Given the description of an element on the screen output the (x, y) to click on. 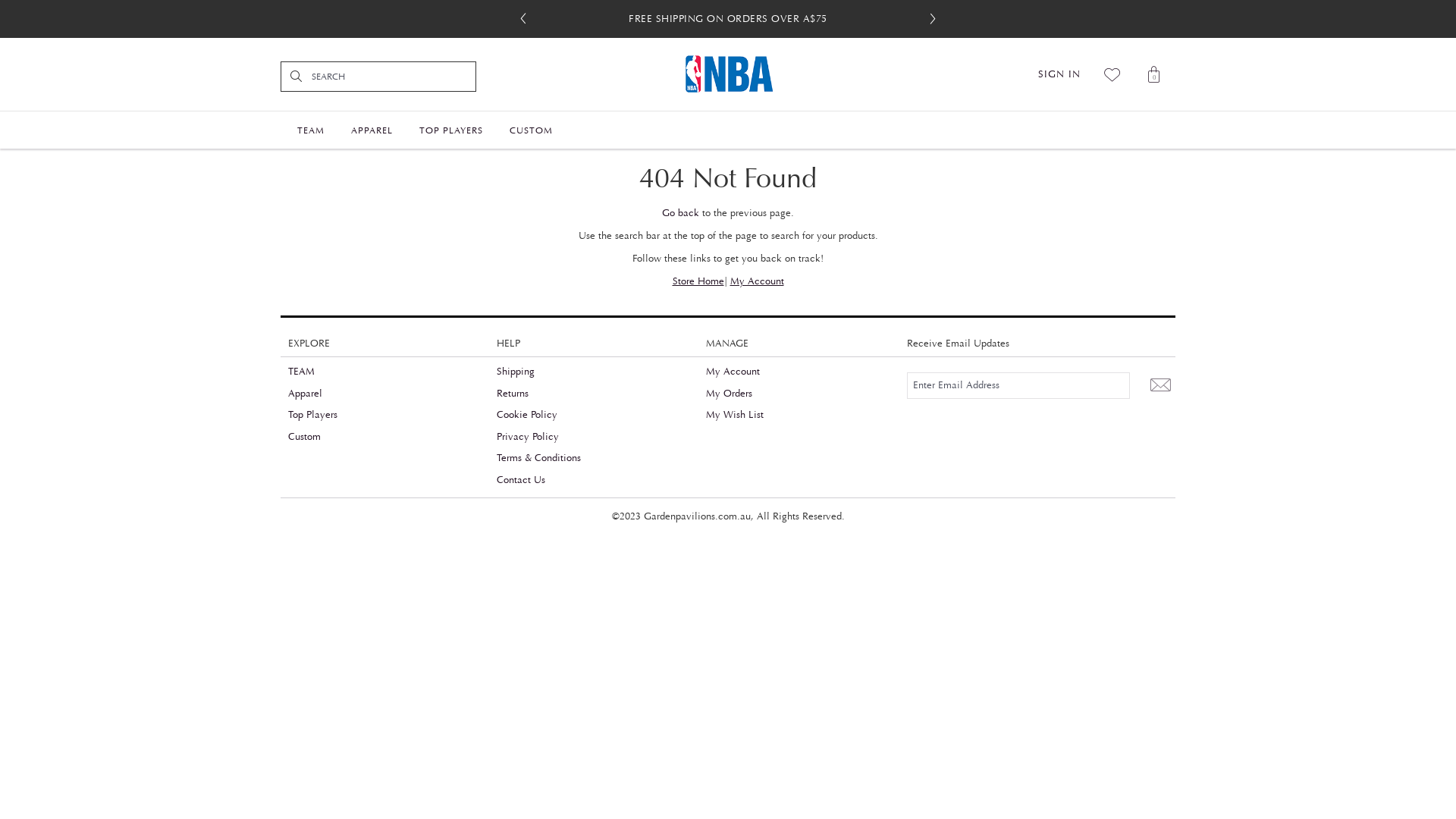
Go back Element type: text (680, 213)
Terms & Conditions Element type: text (538, 457)
APPAREL Element type: text (371, 128)
0 Element type: text (1154, 74)
Cookie Policy Element type: text (526, 414)
Apparel Element type: text (305, 393)
My Account Element type: text (756, 281)
TEAM Element type: text (310, 128)
Wish List Element type: hover (1112, 74)
Returns Element type: text (512, 393)
My Account Element type: text (732, 371)
Top Players Element type: text (312, 414)
TEAM Element type: text (301, 371)
TOP PLAYERS Element type: text (450, 128)
Shipping Element type: text (515, 371)
Privacy Policy Element type: text (527, 436)
Contact Us Element type: text (520, 479)
My Wish List Element type: text (734, 414)
SIGN IN Element type: text (1059, 74)
gardenpavilions.com.au Element type: hover (727, 73)
Store Home Element type: text (697, 281)
Custom Element type: text (304, 436)
CUSTOM Element type: text (530, 128)
My Orders Element type: text (729, 393)
